Given the description of an element on the screen output the (x, y) to click on. 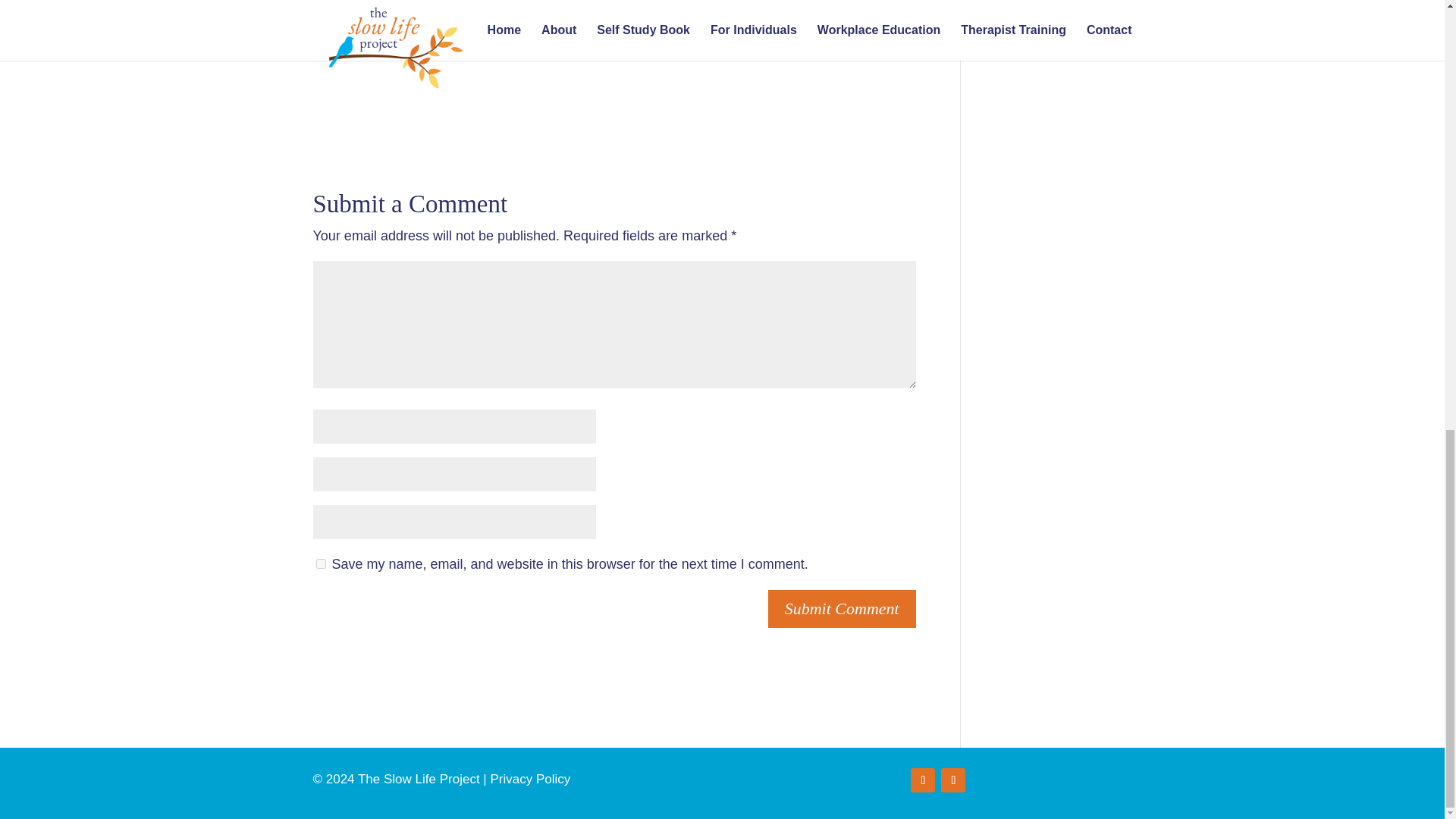
Privacy Policy (529, 779)
Follow on Facebook (922, 780)
Submit Comment (841, 608)
The Slow Life Project (606, 4)
yes (319, 563)
Follow on Instagram (952, 780)
Submit Comment (841, 608)
